Given the description of an element on the screen output the (x, y) to click on. 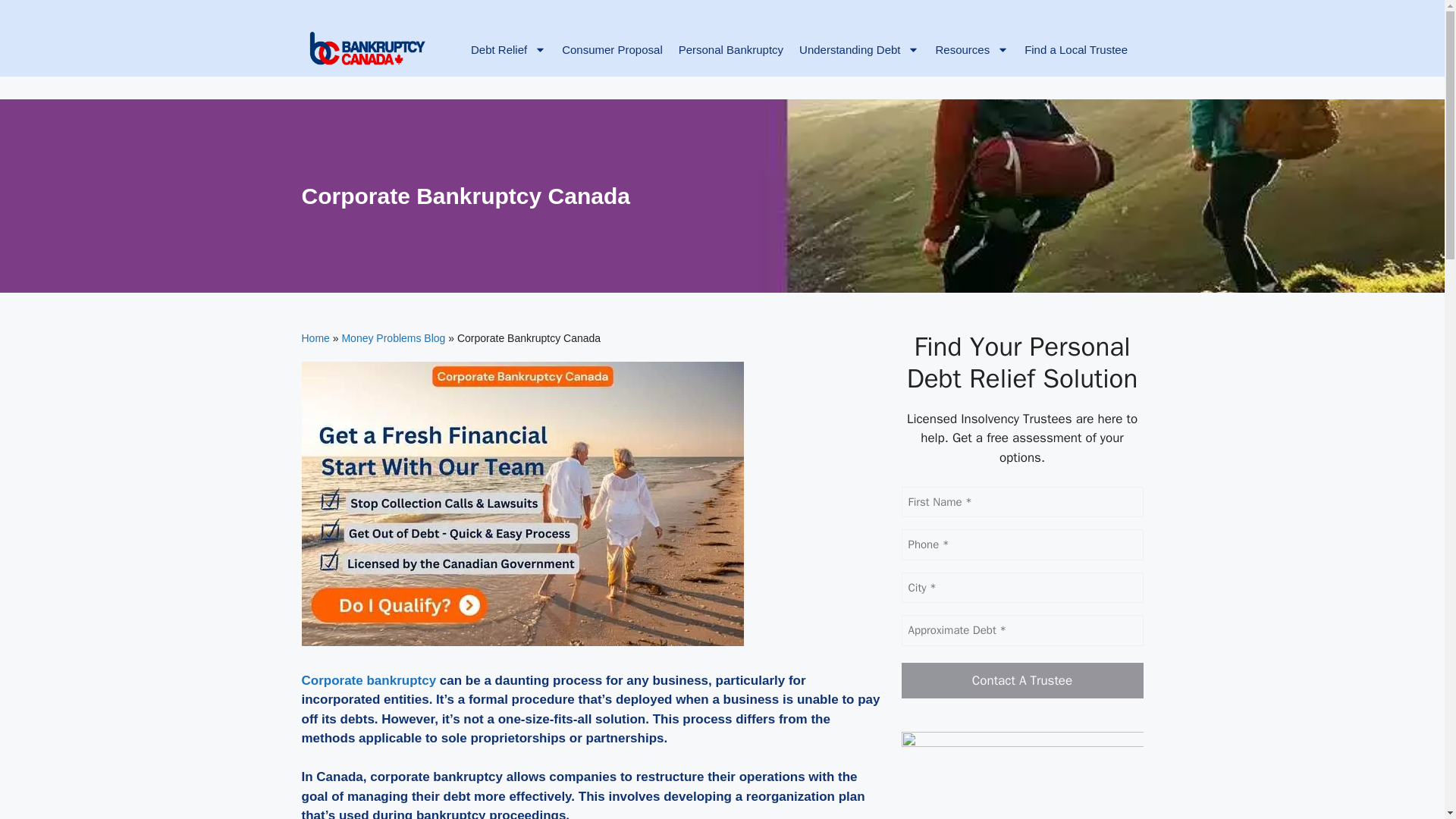
Debt Relief (508, 59)
Consumer Proposal (612, 59)
Resources (971, 59)
Find a Local Trustee (1075, 59)
Contact A Trustee (1021, 680)
Personal Bankruptcy (729, 59)
Understanding Debt (859, 59)
